Given the description of an element on the screen output the (x, y) to click on. 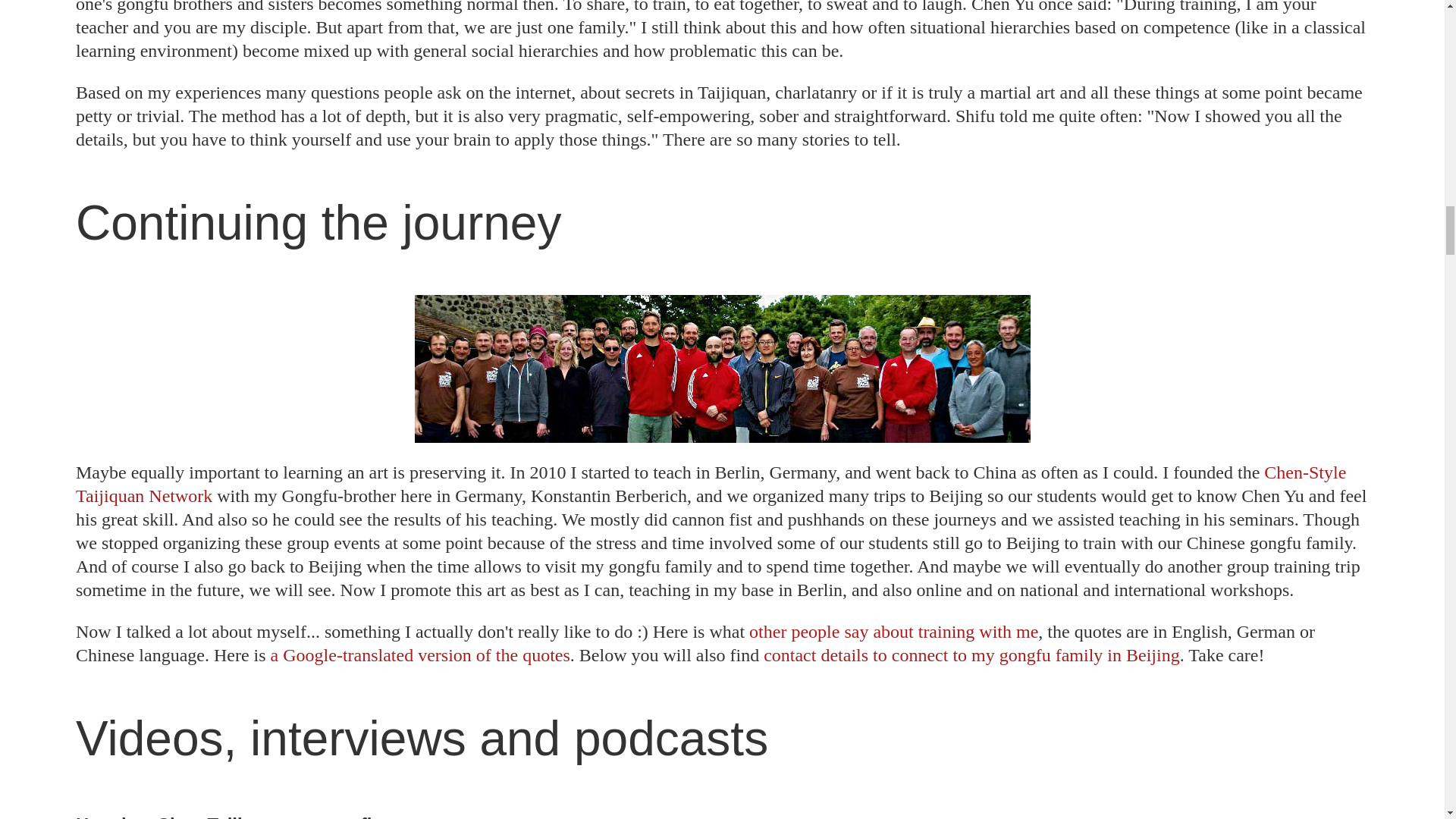
Quotes Studying Online Taijiquan (893, 631)
Quotes on Online Taijiquan learning in English  (420, 655)
contact details to connect to my gongfu family in Beijing (970, 655)
CTND Chen Style Taijiquan Network (710, 484)
other people say about training with me (893, 631)
a Google-translated version of the quotes (420, 655)
Chen-Style Taijiquan Network (710, 484)
